Given the description of an element on the screen output the (x, y) to click on. 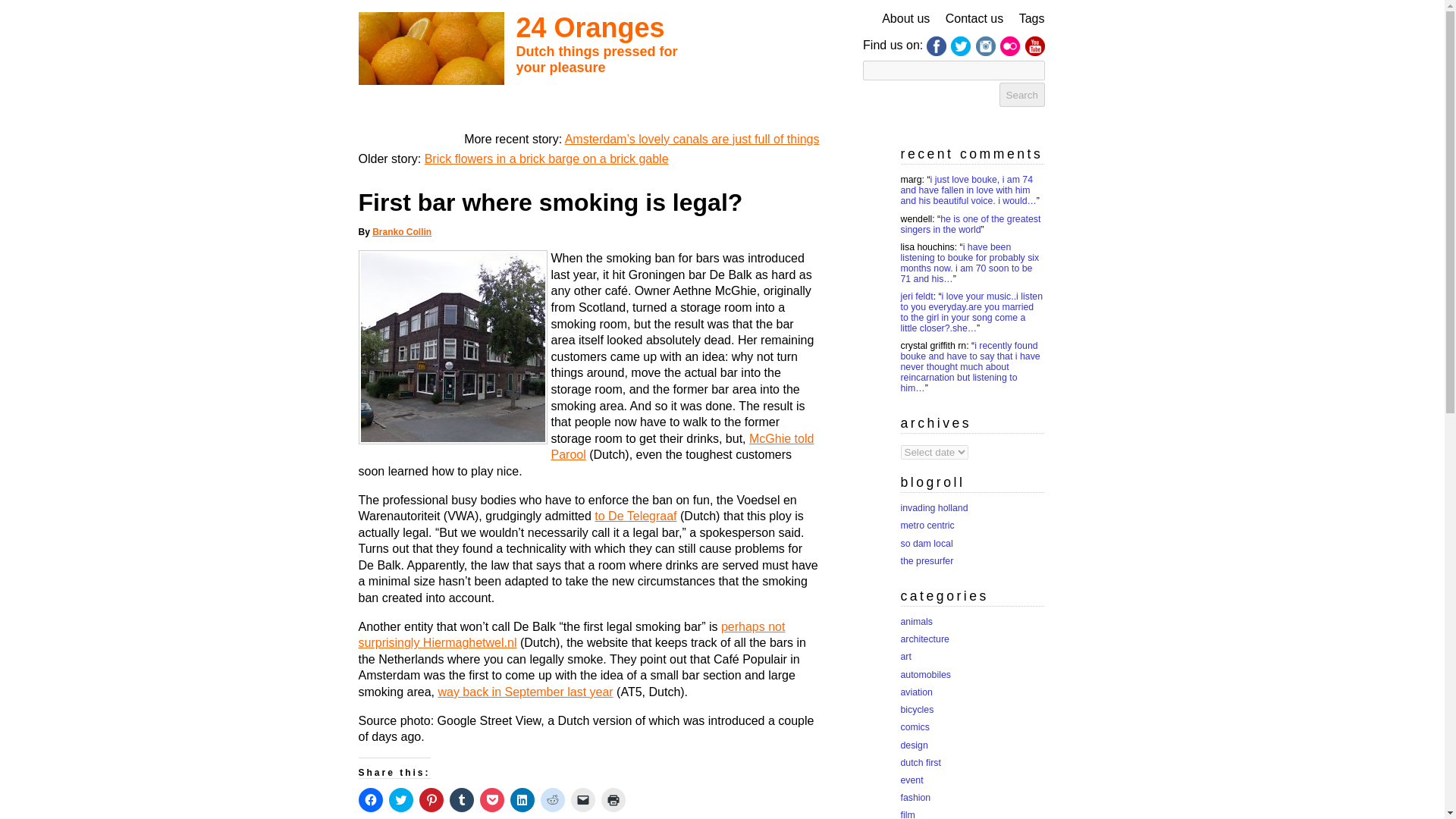
Tags (1032, 18)
perhaps not surprisingly Hiermaghetwel.nl (571, 634)
Contact us (973, 18)
Search (1021, 94)
Brick flowers in a brick barge on a brick gable (546, 158)
24 Oranges (589, 27)
Search (1021, 94)
About us (906, 18)
to De Telegraaf (635, 515)
Branko Collin (401, 231)
